Given the description of an element on the screen output the (x, y) to click on. 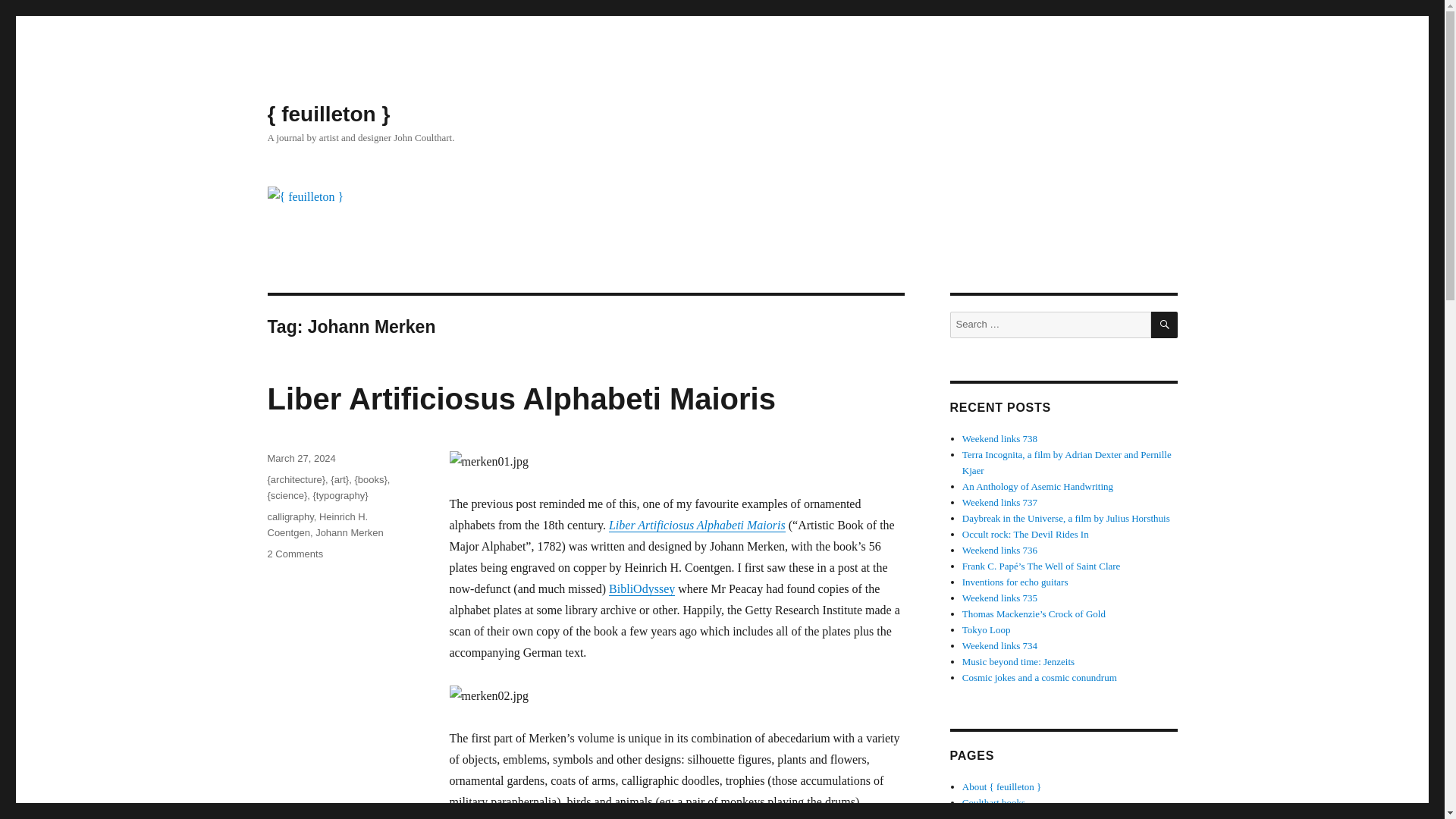
Tokyo Loop (986, 629)
Liber Artificiosus Alphabeti Maioris (697, 524)
Weekend links 737 (999, 501)
Terra Incognita, a film by Adrian Dexter and Pernille Kjaer (1067, 461)
Occult rock: The Devil Rides In (1025, 533)
Music beyond time: Jenzeits (1018, 661)
Weekend links 735 (999, 597)
Inventions for echo guitars (1015, 582)
BibliOdyssey (641, 588)
Weekend links 736 (999, 550)
